Given the description of an element on the screen output the (x, y) to click on. 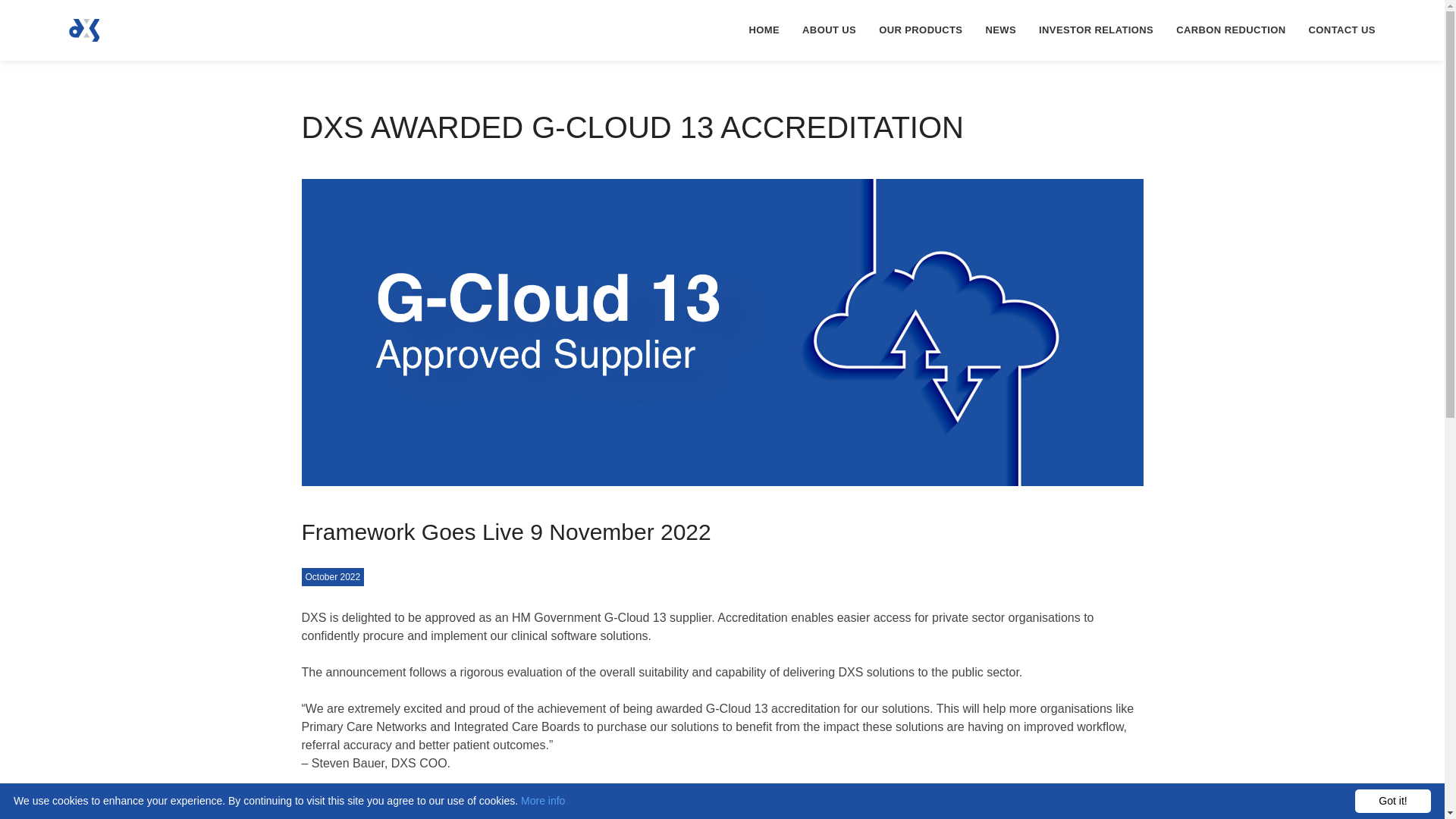
INVESTOR RELATIONS (1095, 30)
More info (542, 800)
OUR PRODUCTS (920, 30)
ABOUT US (828, 30)
CONTACT US (1342, 30)
CARBON REDUCTION (1230, 30)
